Given the description of an element on the screen output the (x, y) to click on. 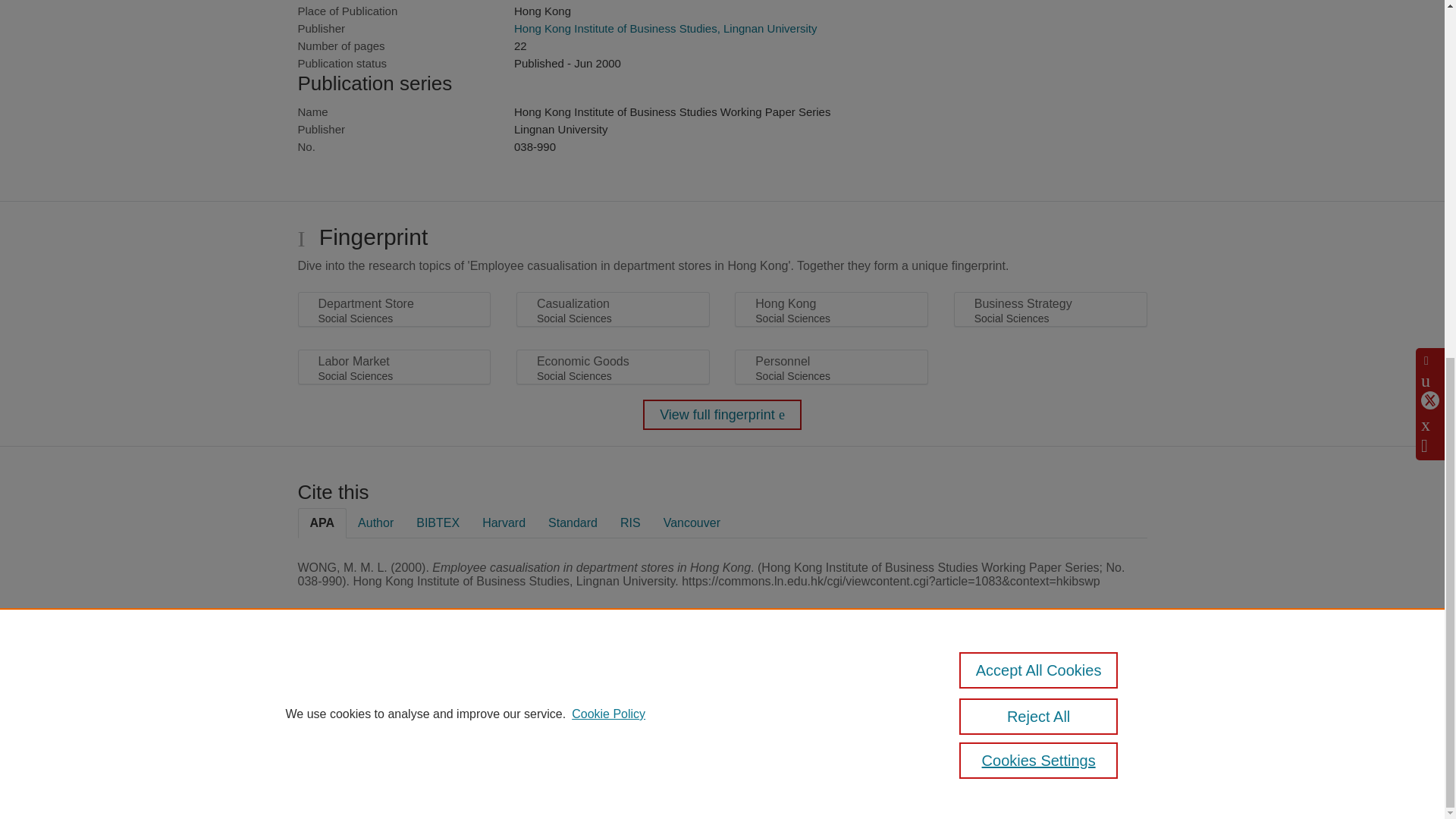
Pure (362, 686)
Scopus (394, 686)
Hong Kong Institute of Business Studies, Lingnan University (664, 28)
View full fingerprint (722, 414)
